Given the description of an element on the screen output the (x, y) to click on. 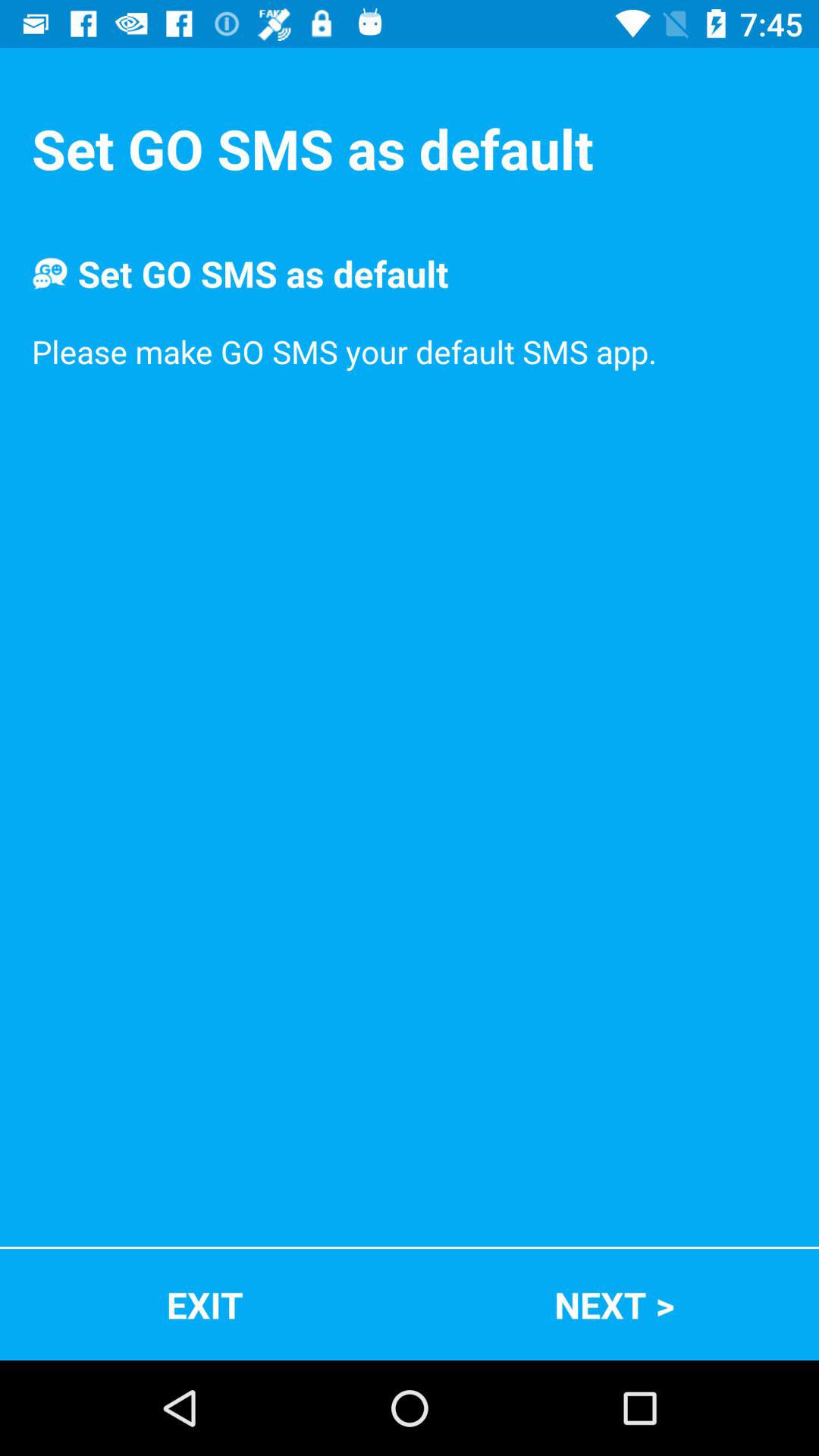
scroll to the exit item (204, 1304)
